Given the description of an element on the screen output the (x, y) to click on. 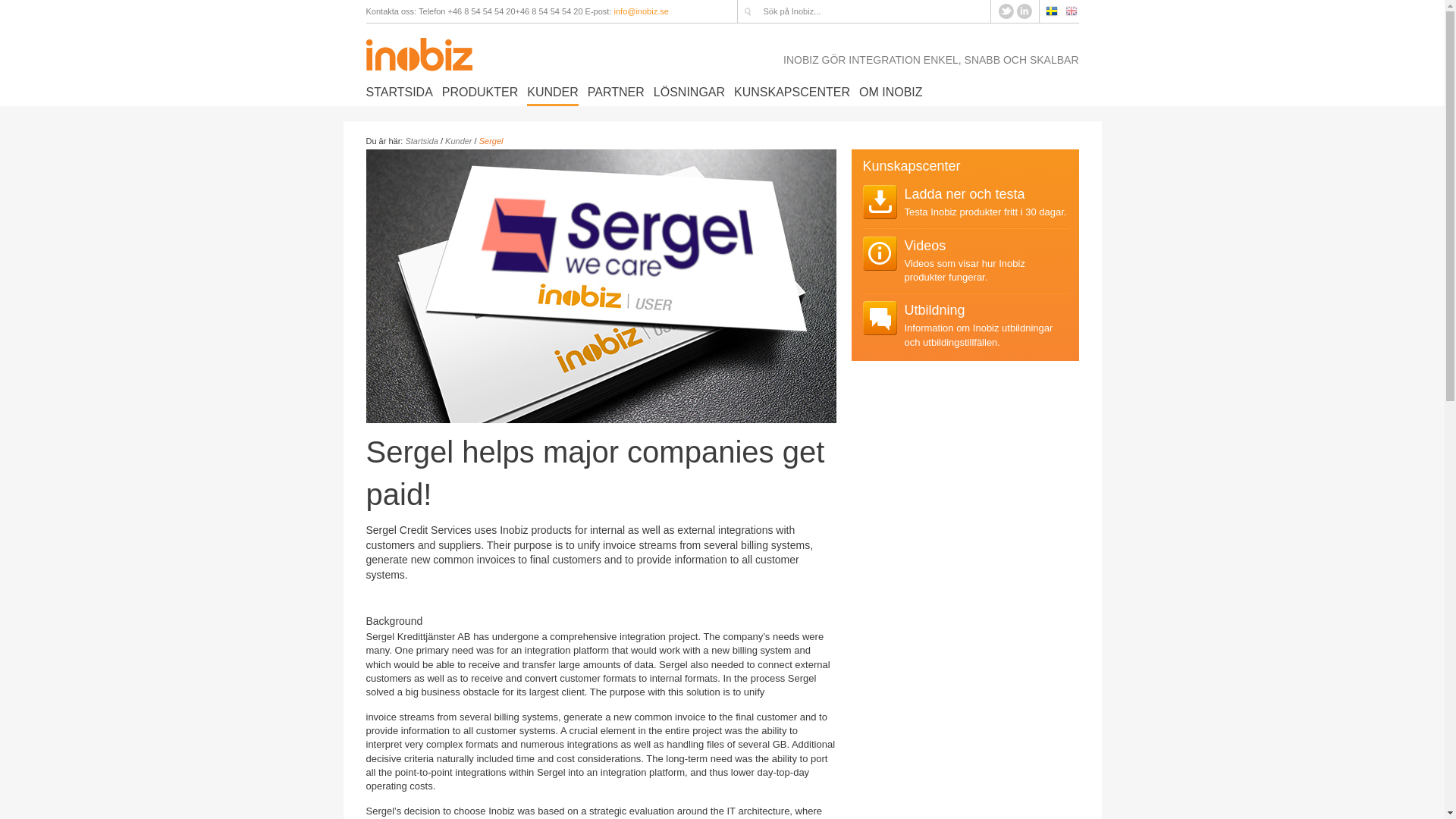
Kunder (458, 140)
Sergel (491, 140)
Utbildning (933, 309)
Startsida (421, 140)
PRODUKTER (480, 93)
PARTNER (616, 93)
Twitter (1007, 9)
KUNSKAPSCENTER (791, 93)
Videos (924, 245)
KUNDER (552, 93)
linkedin (1023, 9)
Ladda ner och testa (964, 193)
OM INOBIZ (891, 93)
STARTSIDA (398, 93)
